Given the description of an element on the screen output the (x, y) to click on. 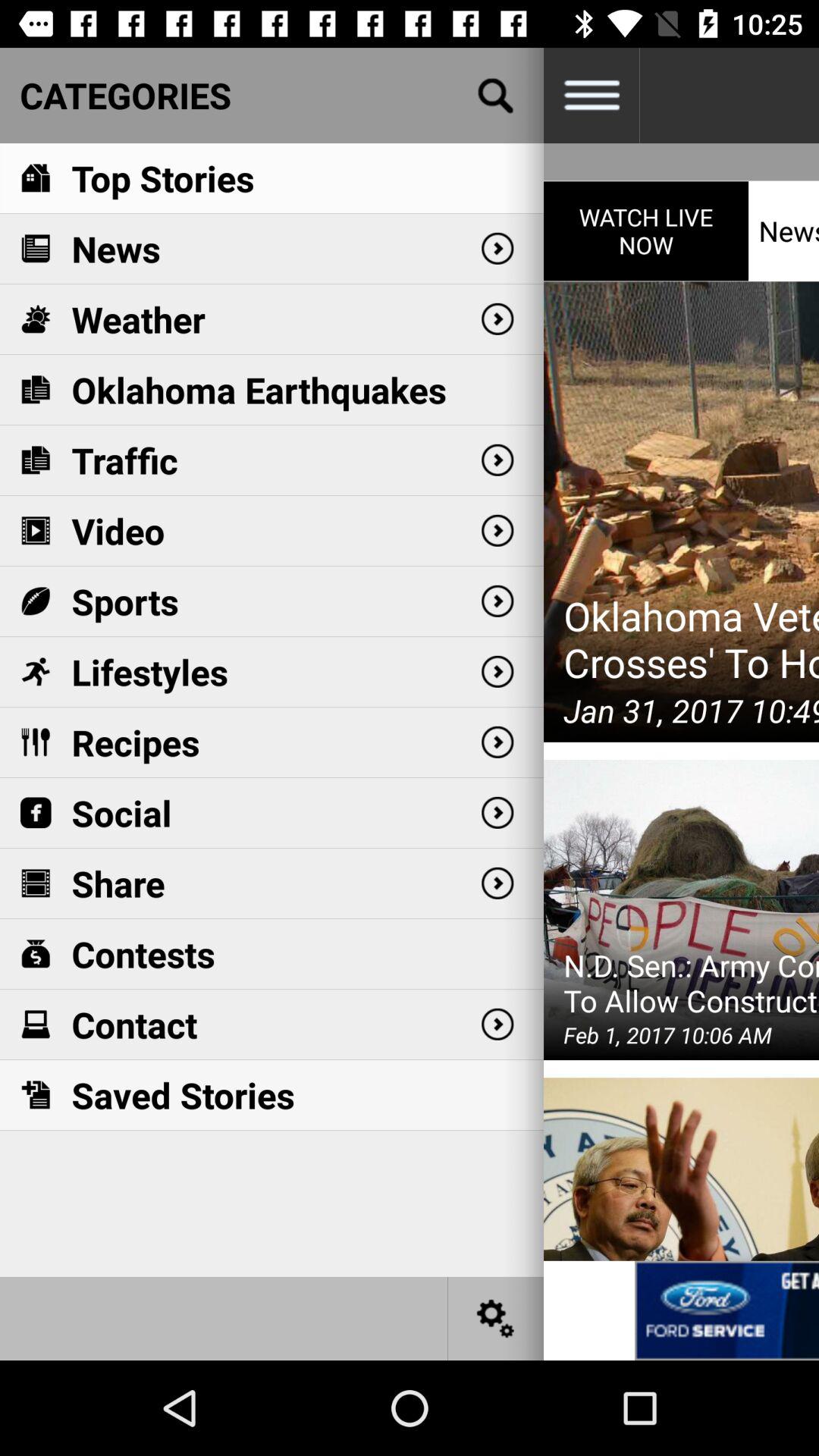
open settings (495, 1318)
